Given the description of an element on the screen output the (x, y) to click on. 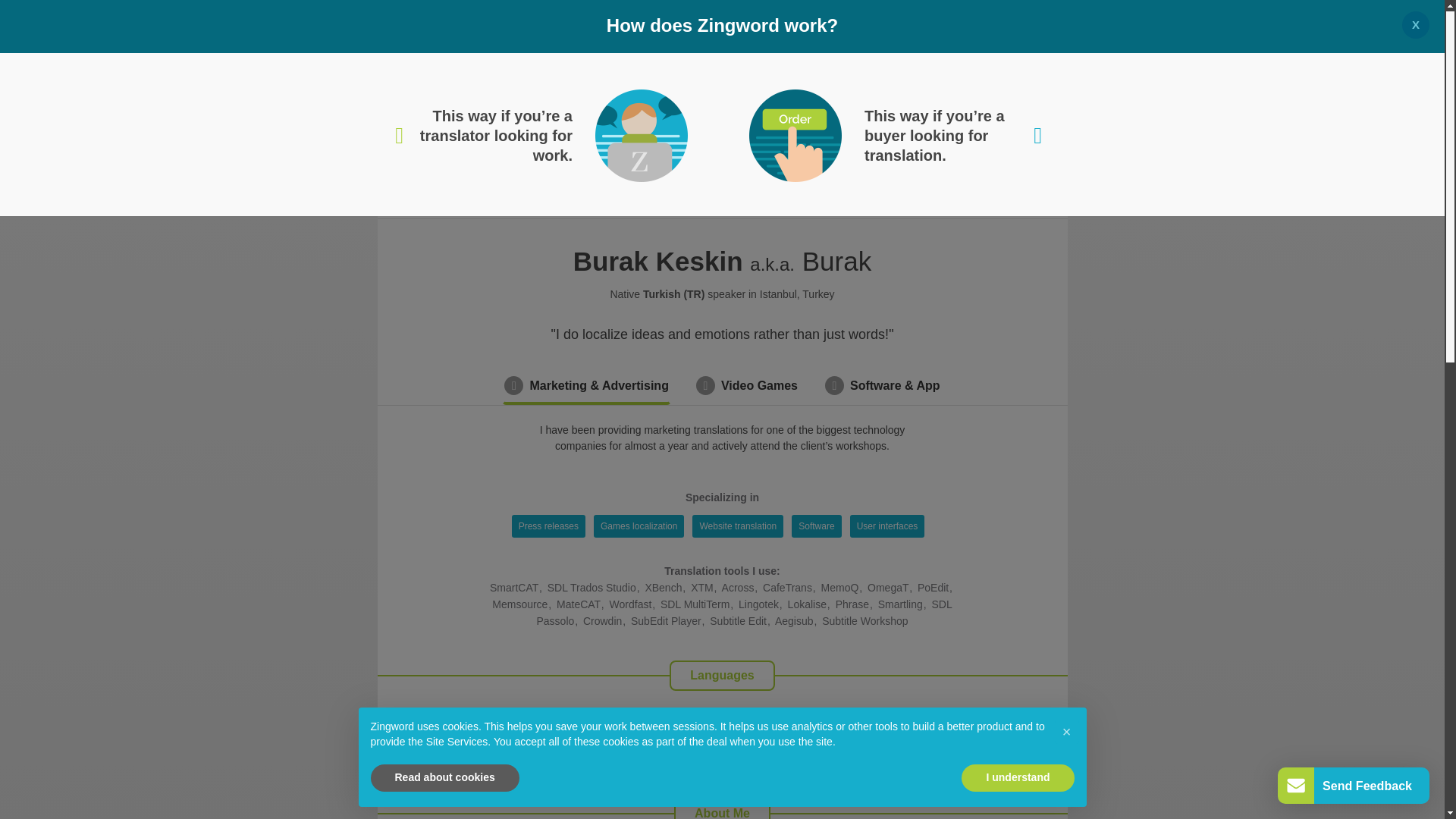
Add to project (1014, 82)
I understand (1017, 777)
Direct message (906, 82)
Sign up (955, 24)
Log in (1029, 24)
Video Games (746, 385)
Read about cookies (443, 777)
X (1415, 24)
